Given the description of an element on the screen output the (x, y) to click on. 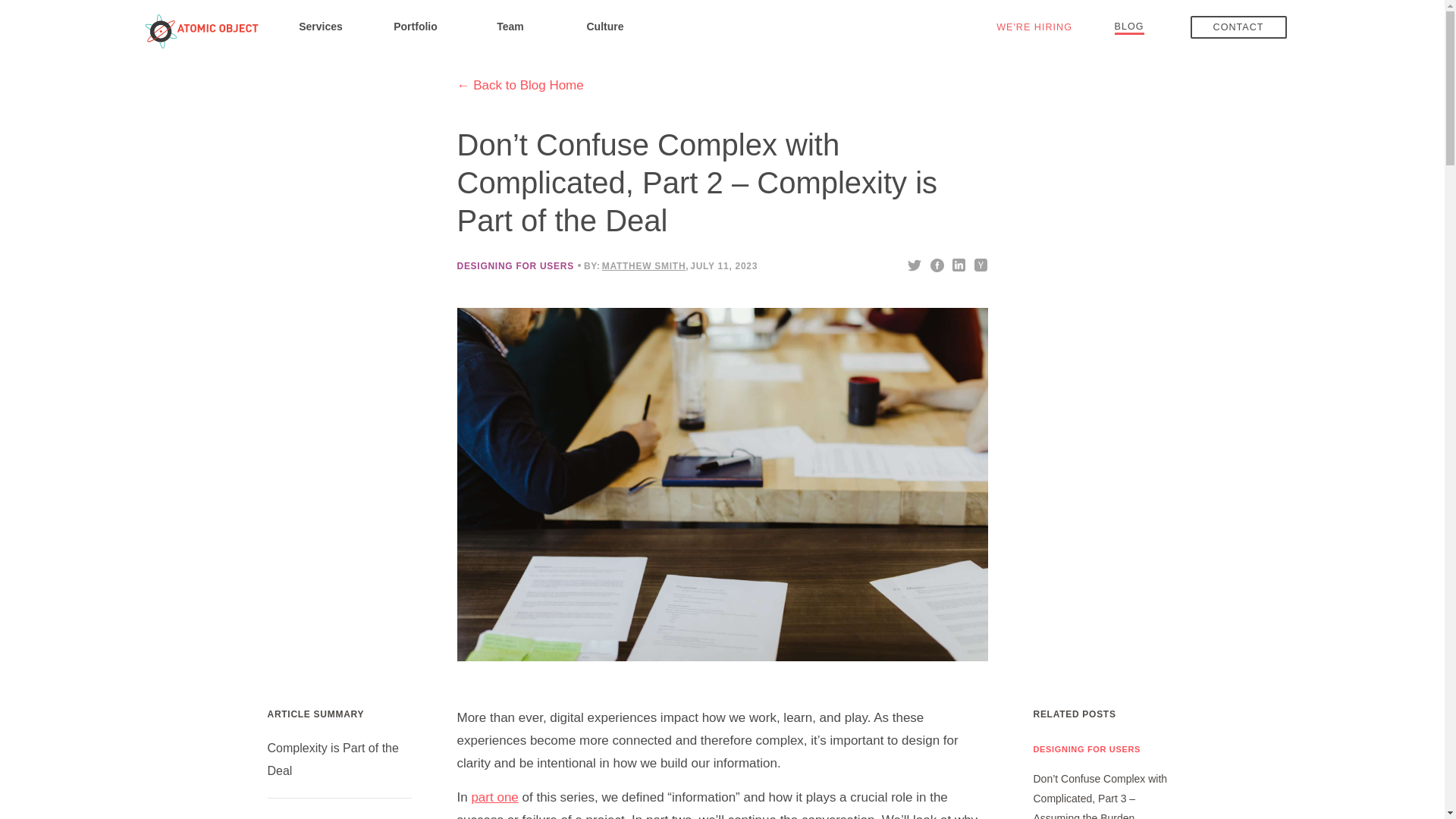
WE'RE HIRING (1033, 27)
CONTACT (1239, 26)
Culture (605, 26)
DESIGNING FOR USERS (515, 264)
MATTHEW SMITH (643, 265)
LINKEDIN (957, 264)
Team (510, 26)
Complexity is Part of the Deal (331, 759)
Up Next (288, 818)
Services (320, 26)
